Given the description of an element on the screen output the (x, y) to click on. 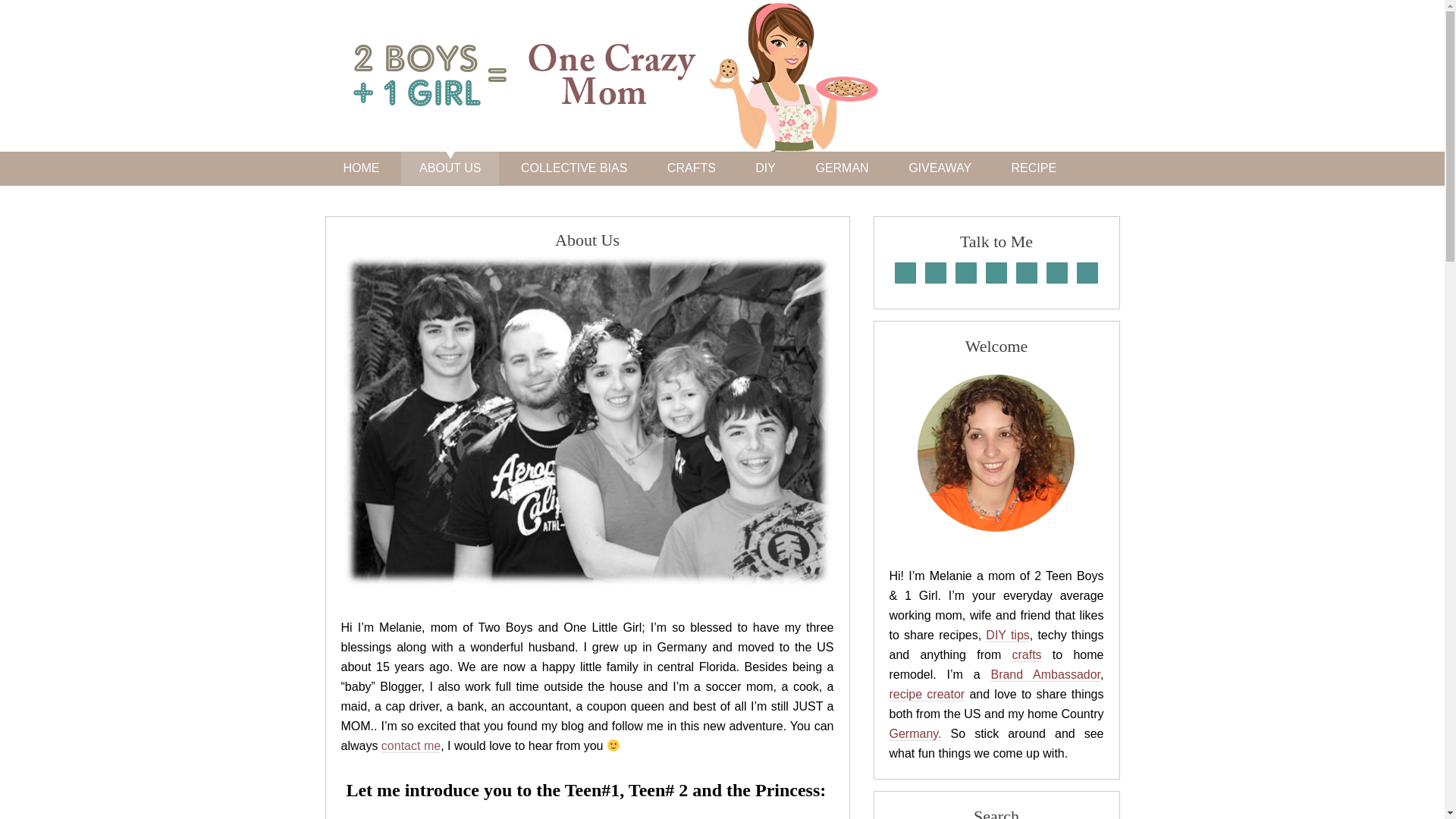
GERMAN (841, 168)
RECIPE (1033, 168)
contact me (411, 745)
ABOUT US (450, 168)
COLLECTIVE BIAS (574, 168)
GIVEAWAY (939, 168)
DIY (764, 168)
CRAFTS (691, 168)
HOME (360, 168)
